Given the description of an element on the screen output the (x, y) to click on. 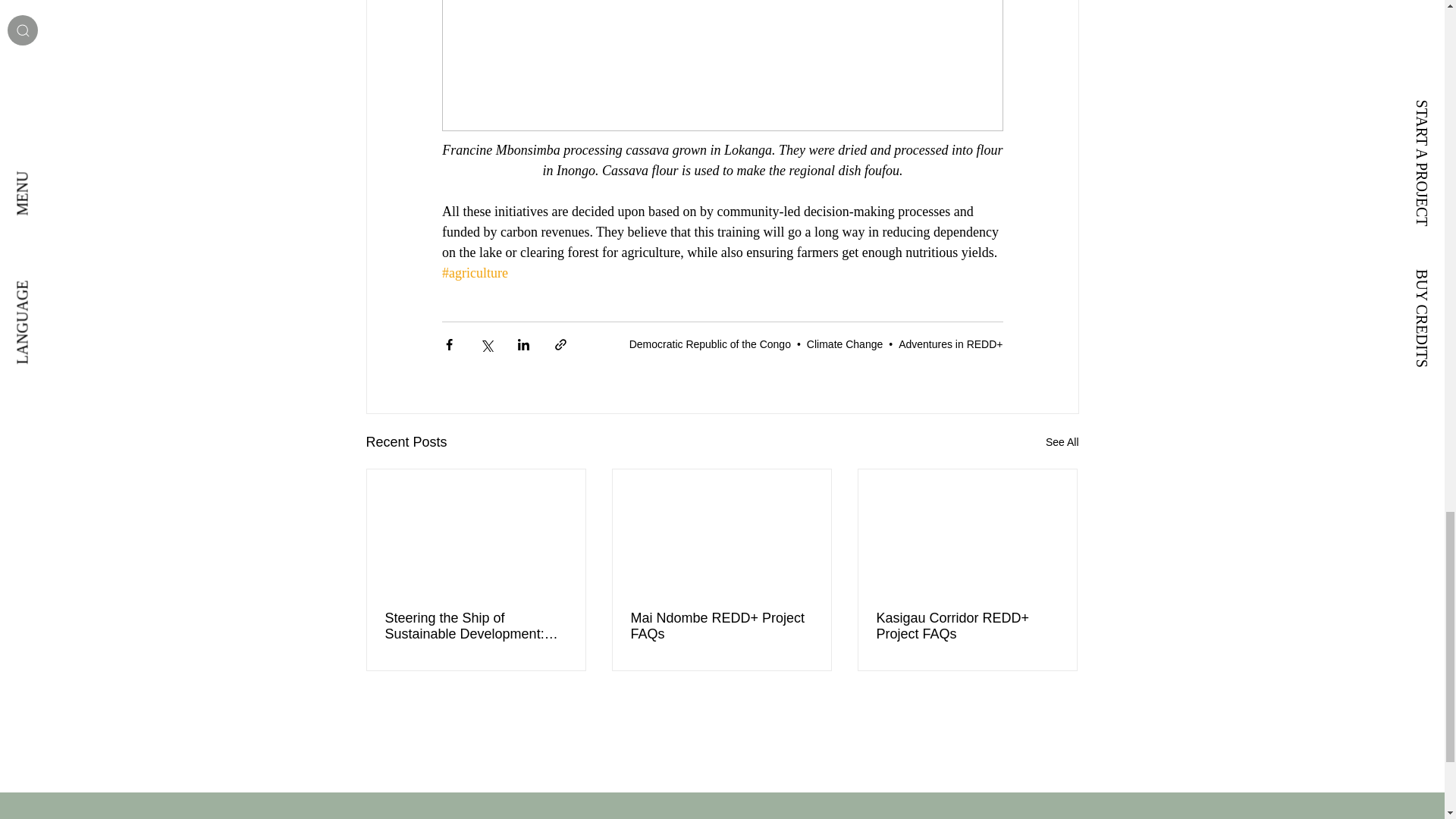
Democratic Republic of the Congo (709, 344)
See All (1061, 442)
Climate Change (844, 344)
